Given the description of an element on the screen output the (x, y) to click on. 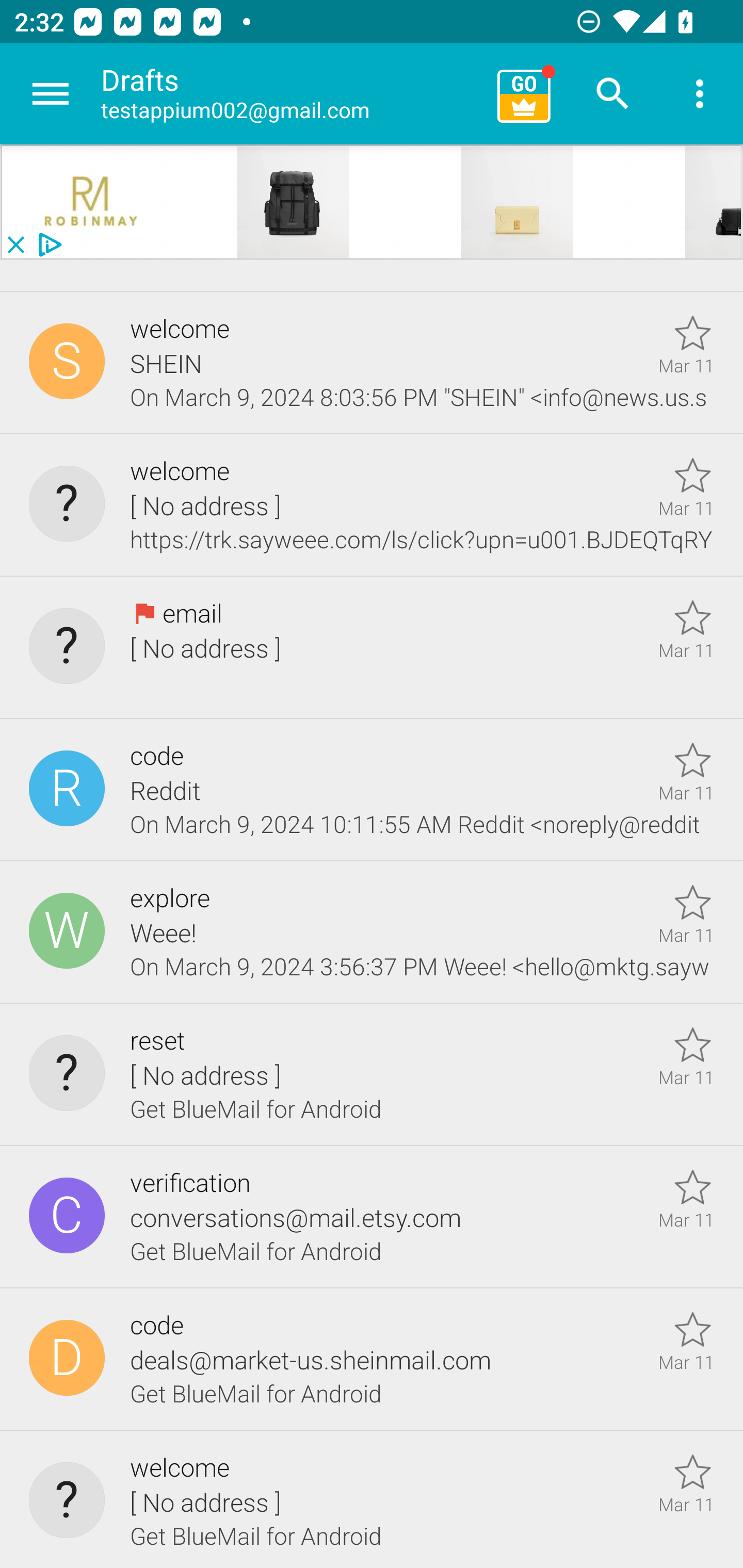
Navigate up (50, 93)
Drafts testappium002@gmail.com (291, 93)
Search (612, 93)
More options (699, 93)
   (91, 202)
   (293, 202)
   (517, 202)
close_button (14, 245)
privacy_small (47, 245)
email, [ No address ], Mar 11 (371, 648)
